Given the description of an element on the screen output the (x, y) to click on. 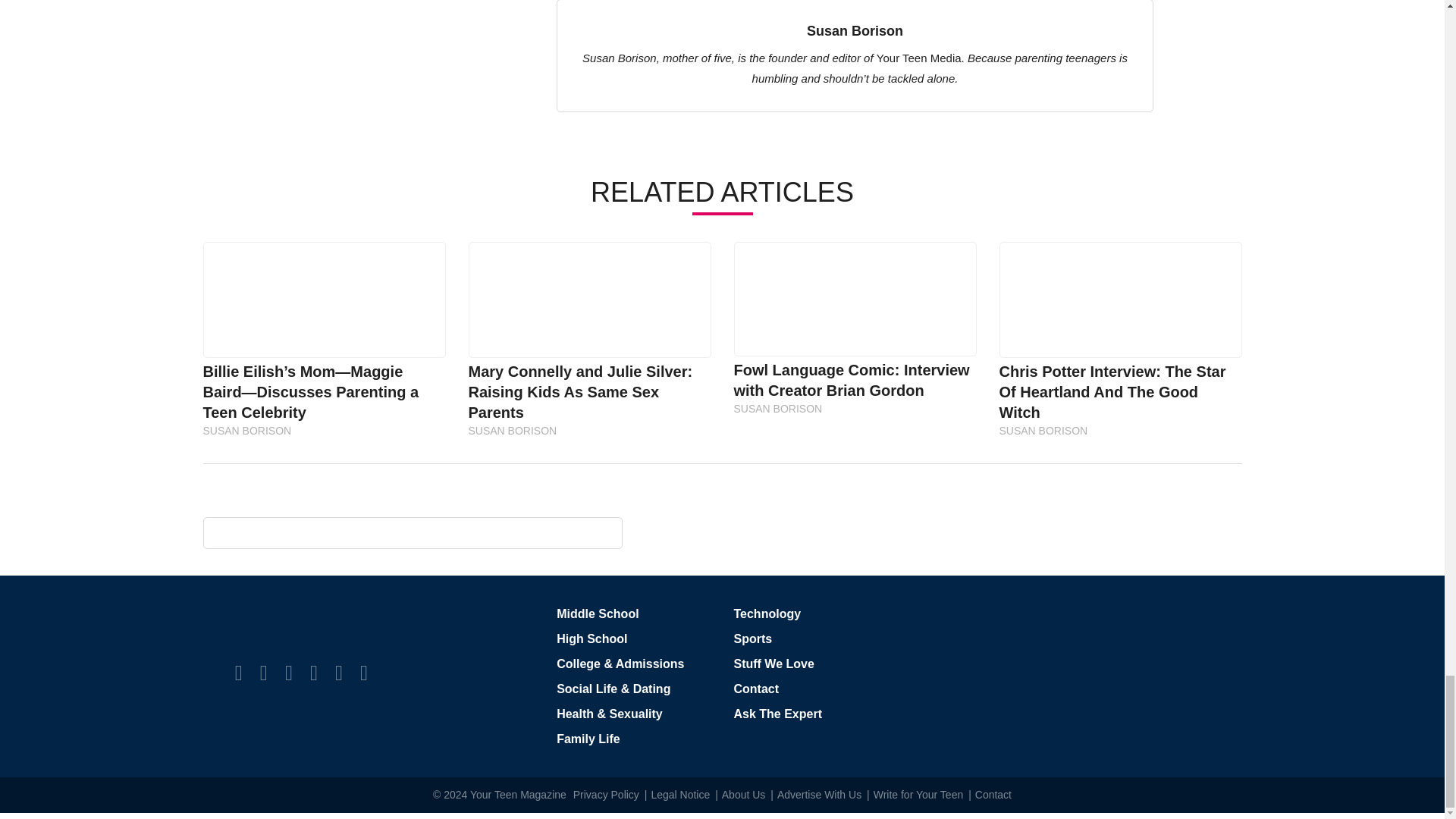
Twitter (263, 672)
Pinterest (313, 672)
Instagram (288, 672)
Facebook (238, 672)
YouTube (338, 672)
Fowl Language Comic: Interview with Creator Brian Gordon (854, 298)
Your Teen Podcast (363, 672)
